Given the description of an element on the screen output the (x, y) to click on. 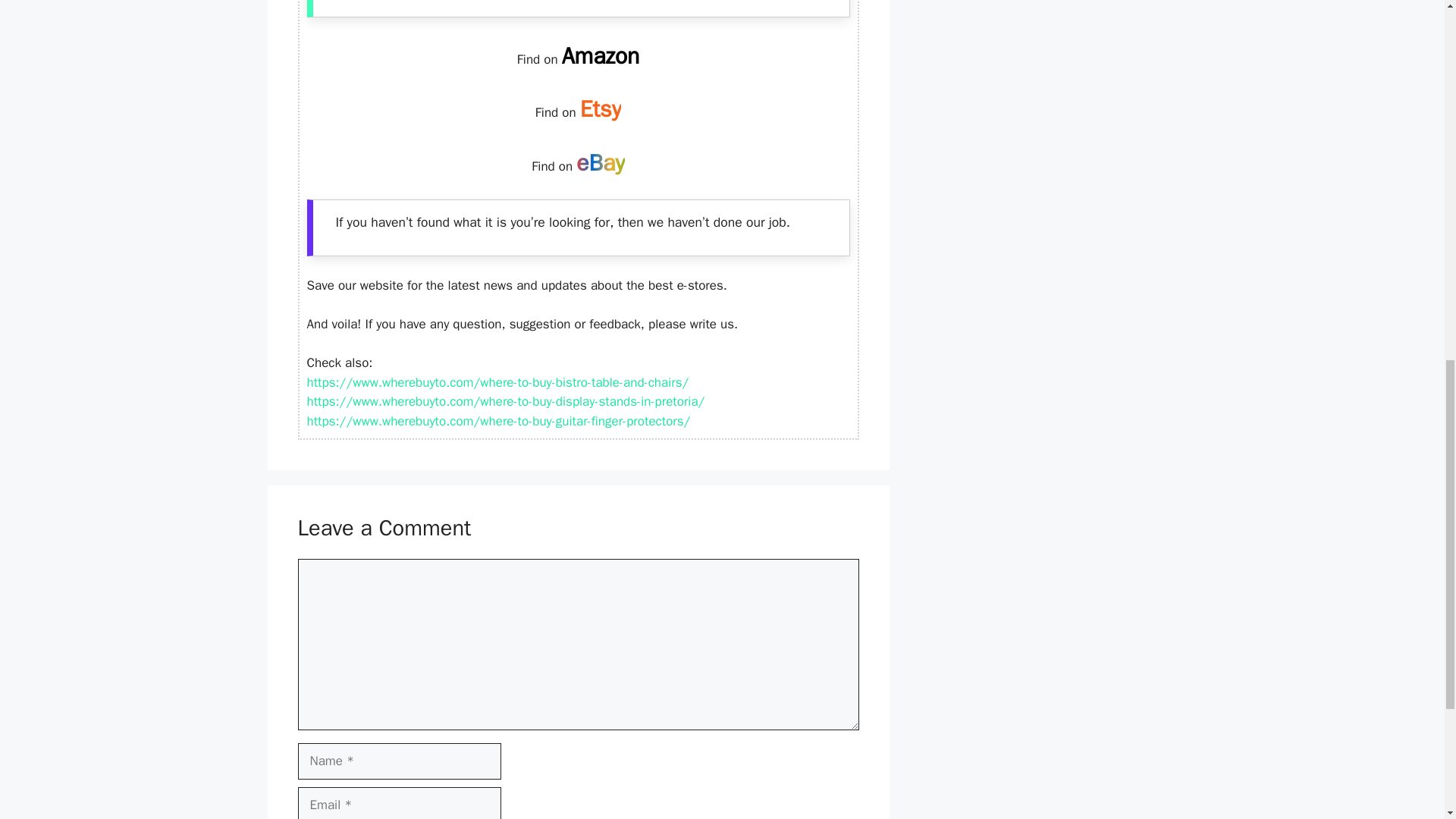
Amazon (600, 55)
Etsy (600, 109)
eBay (600, 162)
